Given the description of an element on the screen output the (x, y) to click on. 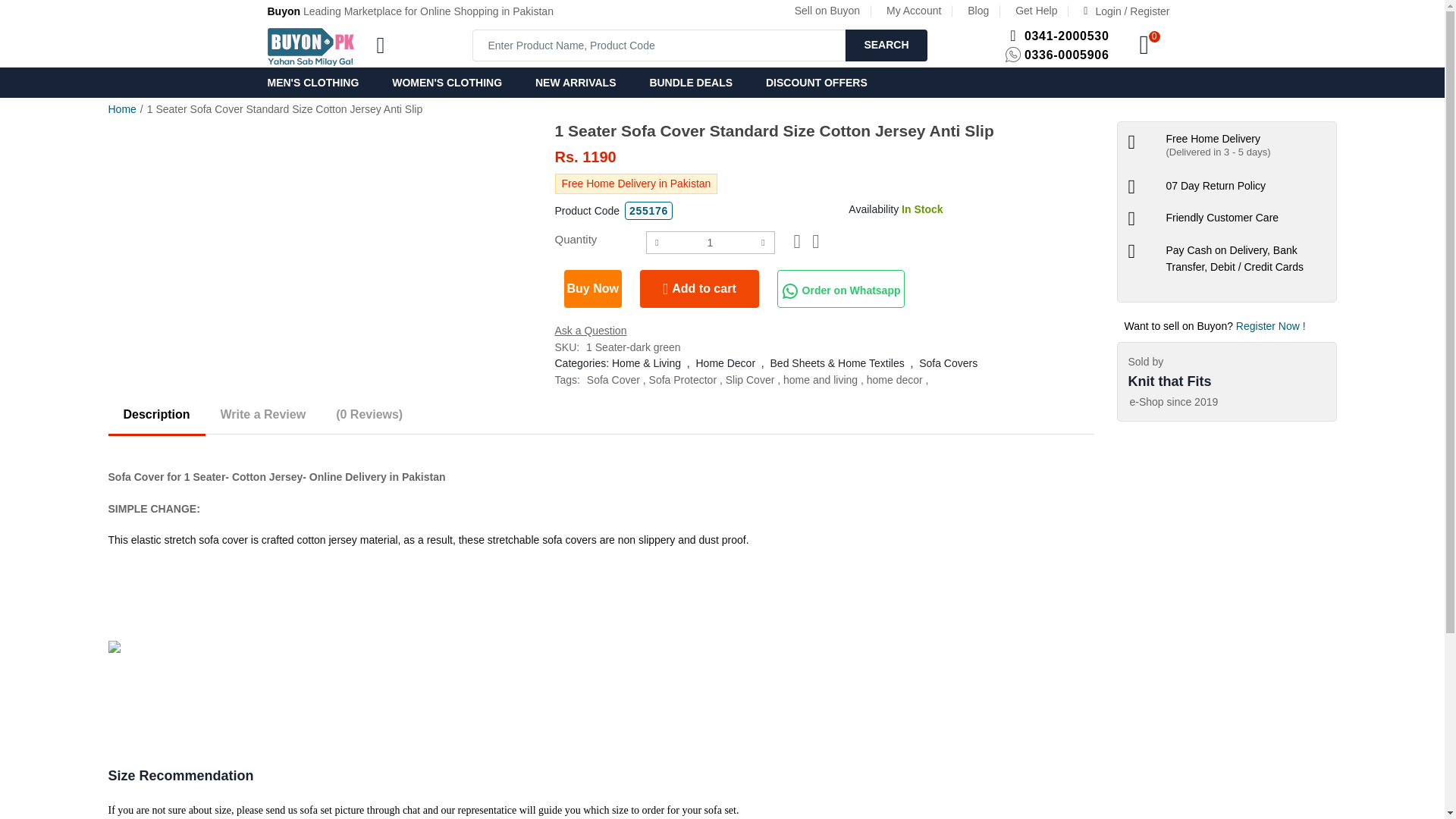
Sofa Covers (947, 363)
255176 (648, 210)
Blog (978, 10)
Sell on Buyon (827, 10)
Ask a Question (590, 330)
Get Help (1035, 10)
DISCOUNT OFFERS (816, 82)
Home Decor (725, 363)
0341-2000530 (1067, 36)
1 (710, 241)
WOMEN'S CLOTHING (446, 82)
MEN'S CLOTHING (320, 82)
Sofa Cover (613, 379)
Order on Whatsapp (840, 288)
Home (121, 109)
